Given the description of an element on the screen output the (x, y) to click on. 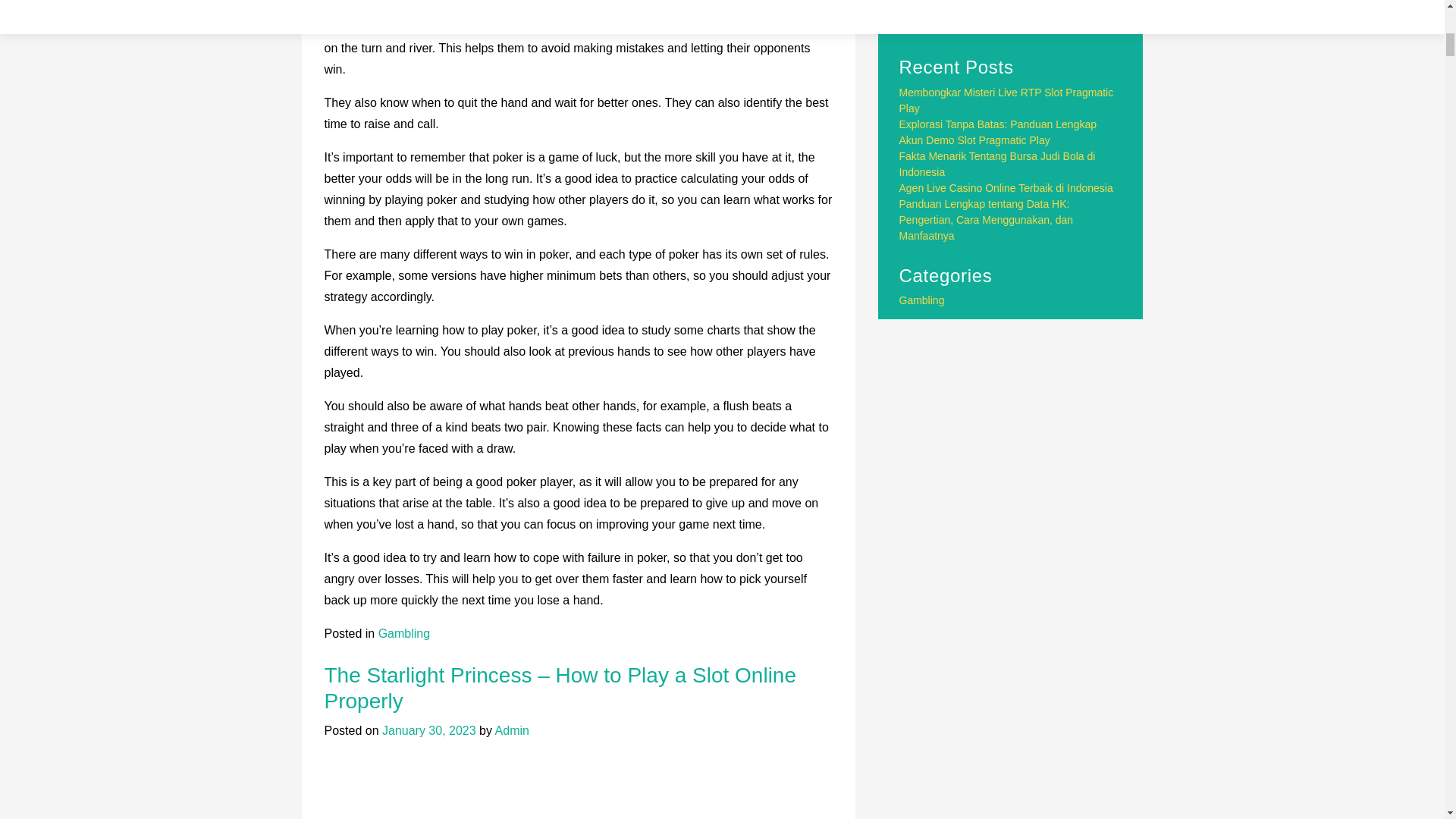
Gambling (403, 633)
January 30, 2023 (428, 730)
Admin (512, 730)
